Given the description of an element on the screen output the (x, y) to click on. 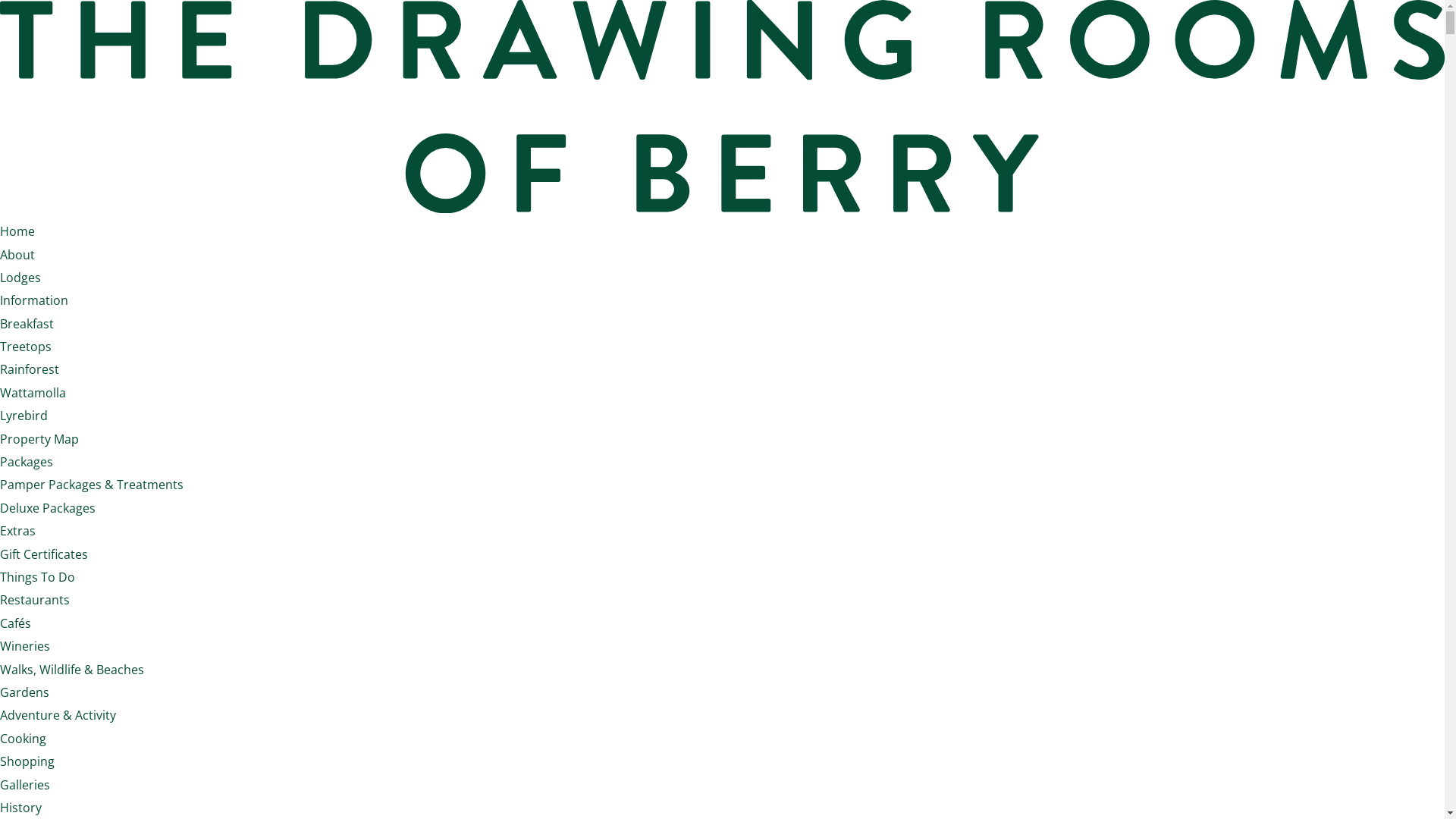
Breakfast Element type: text (26, 323)
Gift Certificates Element type: text (43, 554)
Treetops Element type: text (25, 346)
Galleries Element type: text (25, 784)
Deluxe Packages Element type: text (47, 507)
Packages Element type: text (26, 461)
Gardens Element type: text (24, 692)
Walks, Wildlife & Beaches Element type: text (72, 669)
Rainforest Element type: text (29, 368)
Shopping Element type: text (27, 761)
Extras Element type: text (17, 530)
Property Map Element type: text (39, 438)
Information Element type: text (34, 299)
Lyrebird Element type: text (23, 415)
History Element type: text (20, 807)
Home Element type: text (17, 230)
Adventure & Activity Element type: text (58, 714)
Lodges Element type: text (20, 277)
Wineries Element type: text (25, 645)
Pamper Packages & Treatments Element type: text (91, 484)
About Element type: text (17, 254)
Wattamolla Element type: text (32, 392)
Cooking Element type: text (23, 738)
Things To Do Element type: text (37, 576)
Restaurants Element type: text (34, 599)
